Given the description of an element on the screen output the (x, y) to click on. 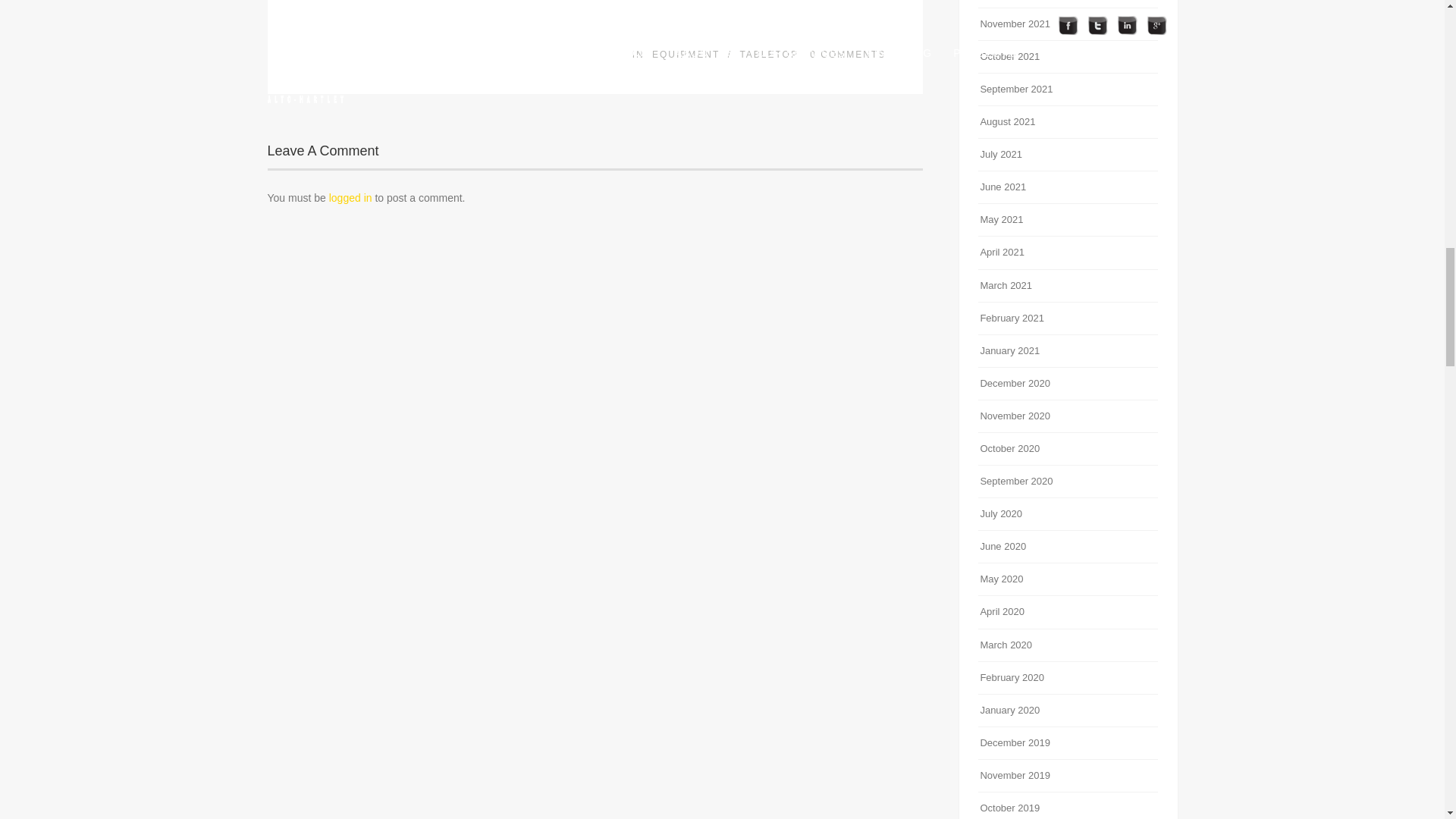
0 COMMENTS (847, 54)
logged in (350, 197)
EQUIPMENT (685, 54)
TABLETOP (768, 54)
